Given the description of an element on the screen output the (x, y) to click on. 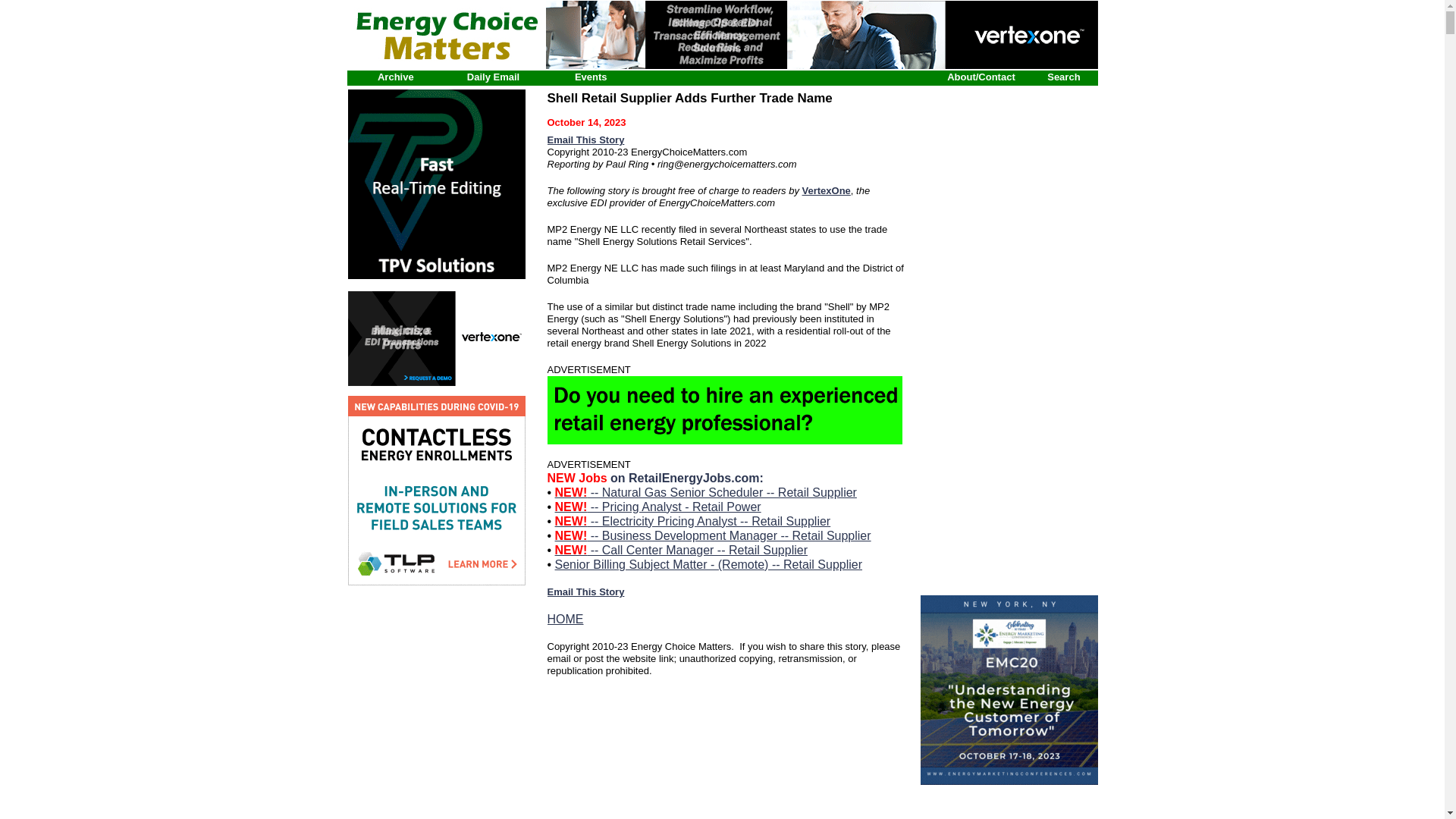
HOME (565, 618)
Search (1063, 76)
Daily Email (493, 76)
VertexOne (826, 190)
NEW! -- Call Center Manager -- Retail Supplier (681, 549)
Events (591, 76)
NEW Jobs on RetailEnergyJobs.com: (654, 477)
Email This Story (585, 591)
Email This Story (585, 139)
Archive (395, 76)
